Given the description of an element on the screen output the (x, y) to click on. 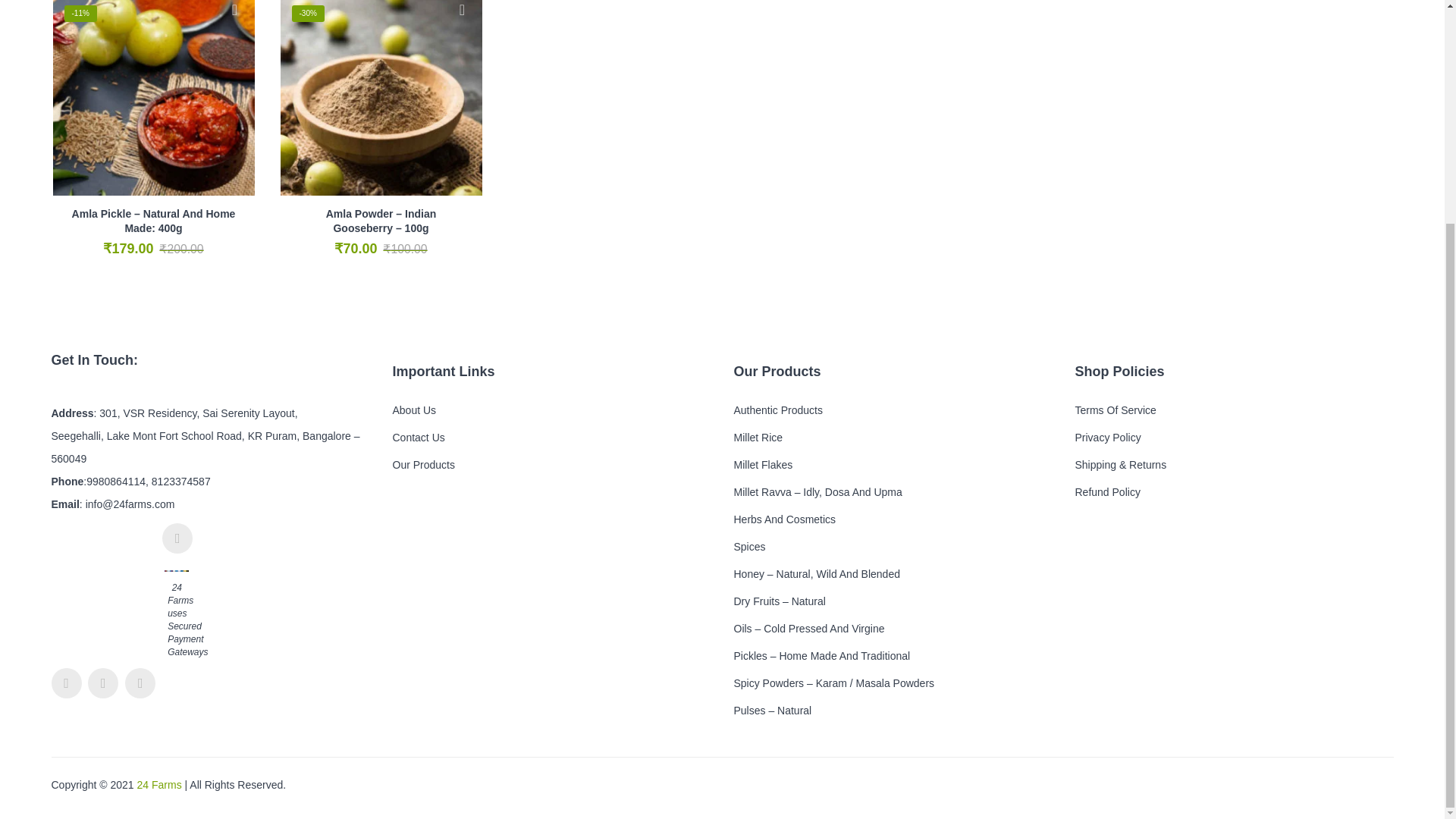
instagram (176, 538)
googleplus (140, 683)
facebook (102, 683)
twitter (65, 683)
